Given the description of an element on the screen output the (x, y) to click on. 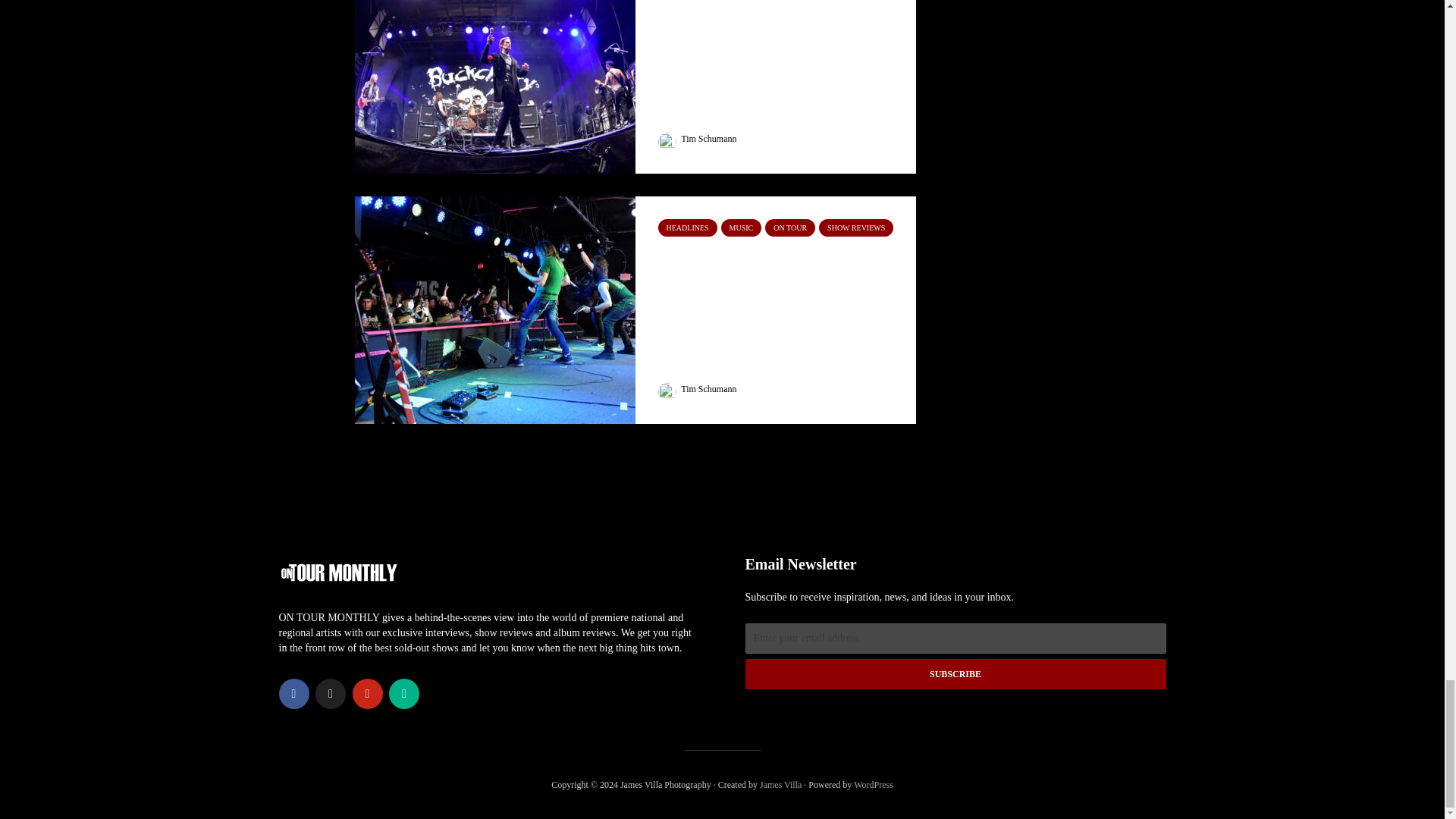
Subscribe (955, 674)
Subscribe (955, 674)
Buckcherry makes its return to Speaking Rock (494, 58)
Kings of Thrash drop into the Rockhouse (494, 308)
